Given the description of an element on the screen output the (x, y) to click on. 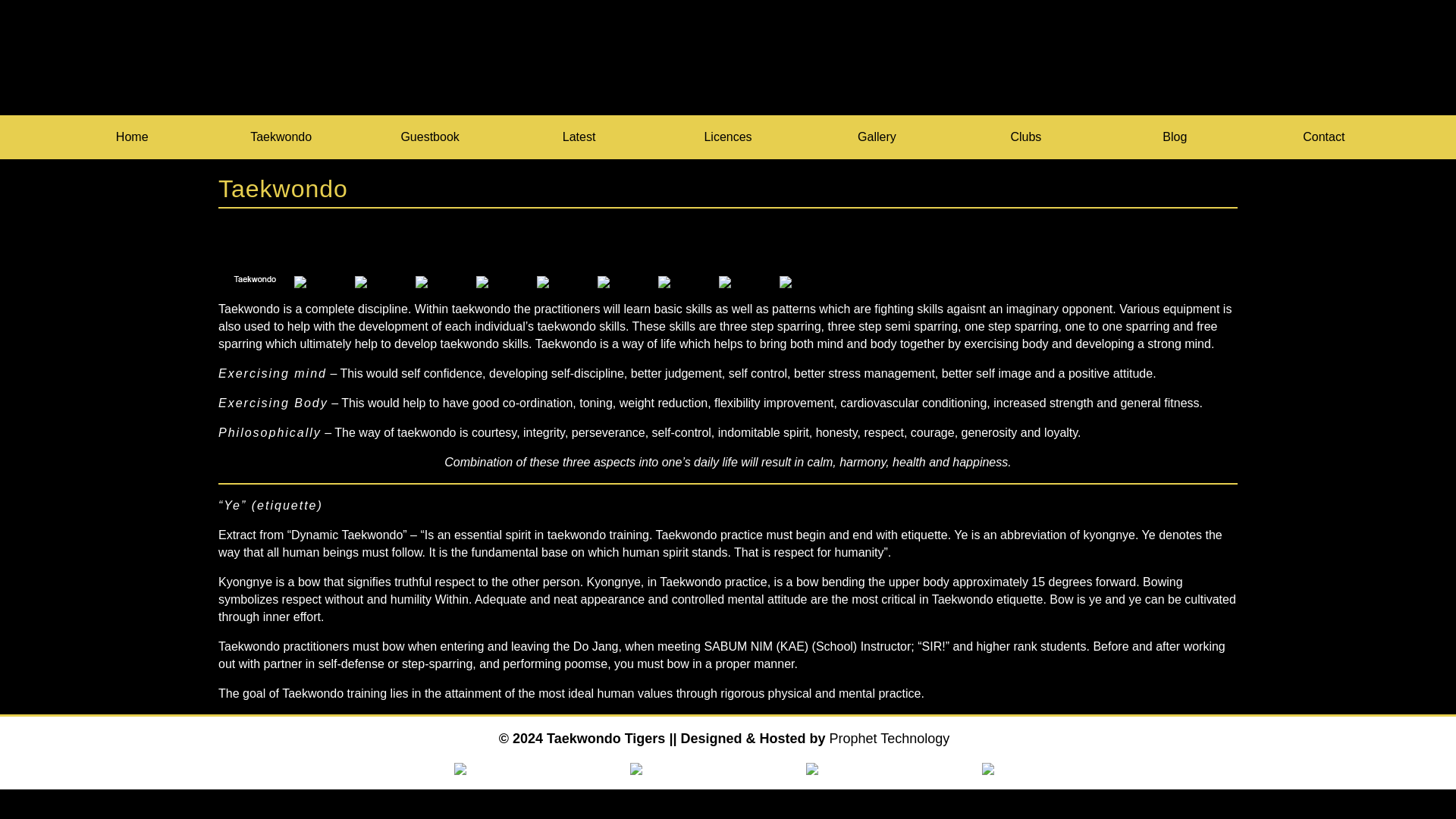
Latest (579, 136)
Home (132, 136)
Taekwondo (280, 136)
Guestbook (429, 136)
Blog (1174, 136)
Licences (727, 136)
Gallery (876, 136)
Contact (1323, 136)
Clubs (1026, 136)
